Given the description of an element on the screen output the (x, y) to click on. 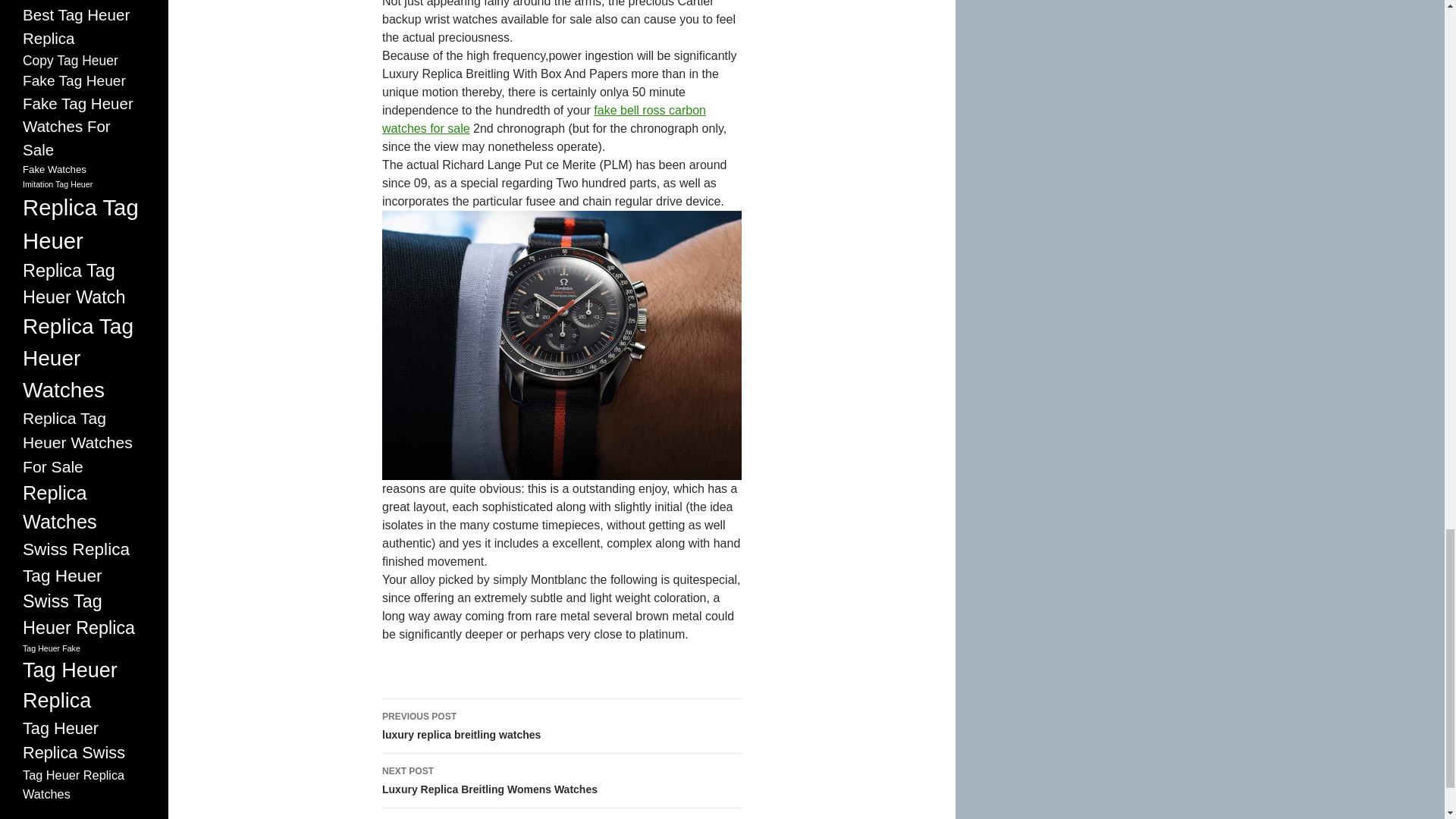
fake bell ross carbon watches for sale (543, 119)
